Given the description of an element on the screen output the (x, y) to click on. 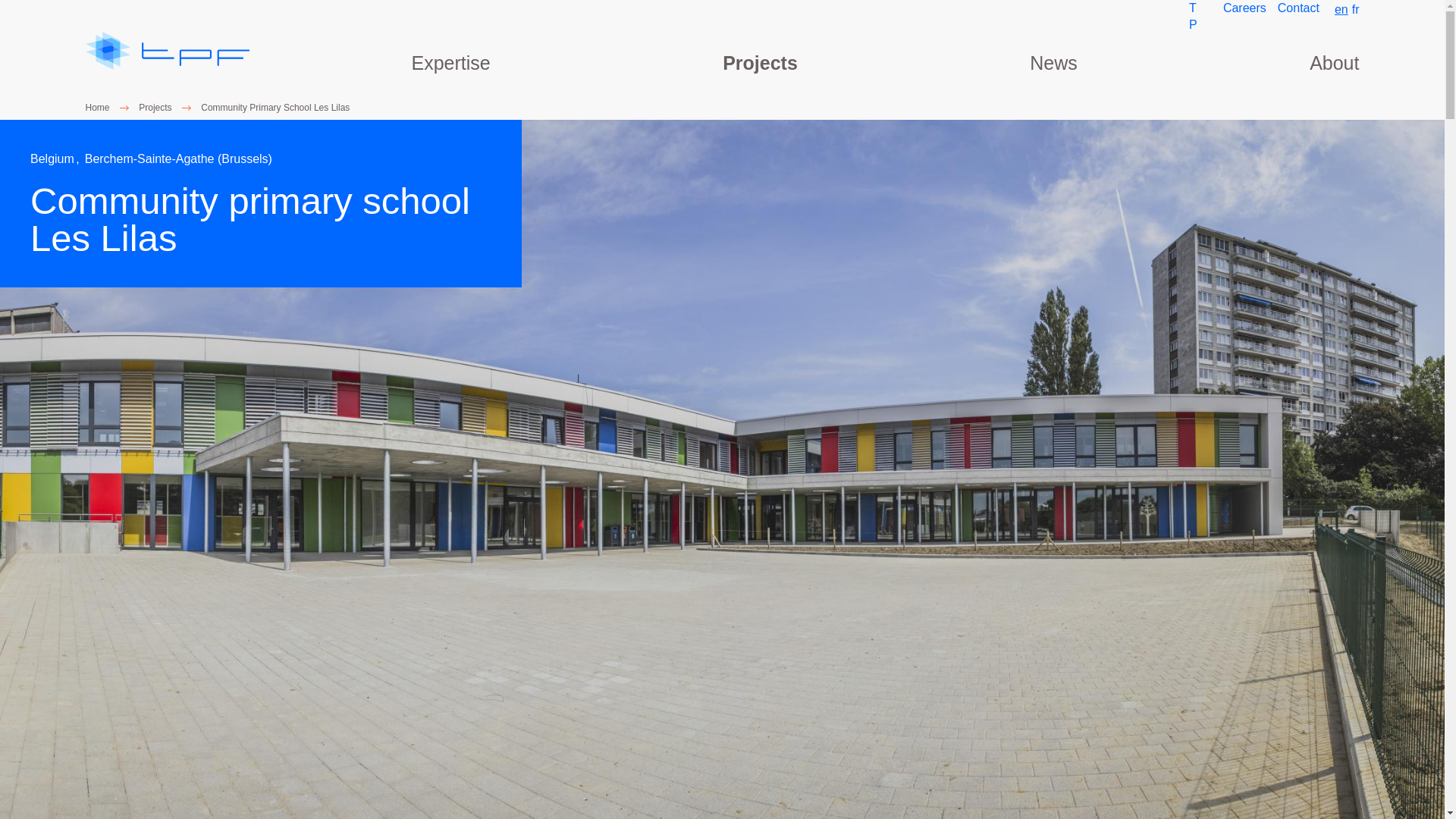
Home (166, 52)
TPF Group (1195, 49)
